Given the description of an element on the screen output the (x, y) to click on. 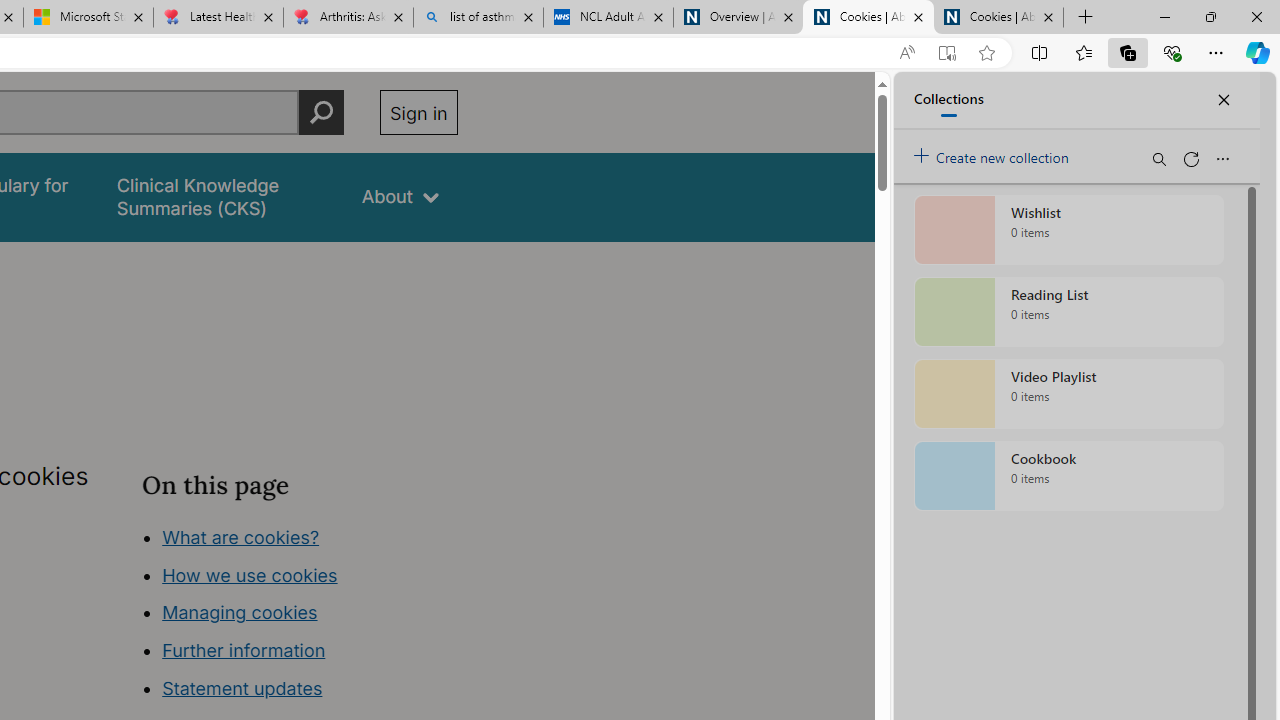
false (221, 196)
